Given the description of an element on the screen output the (x, y) to click on. 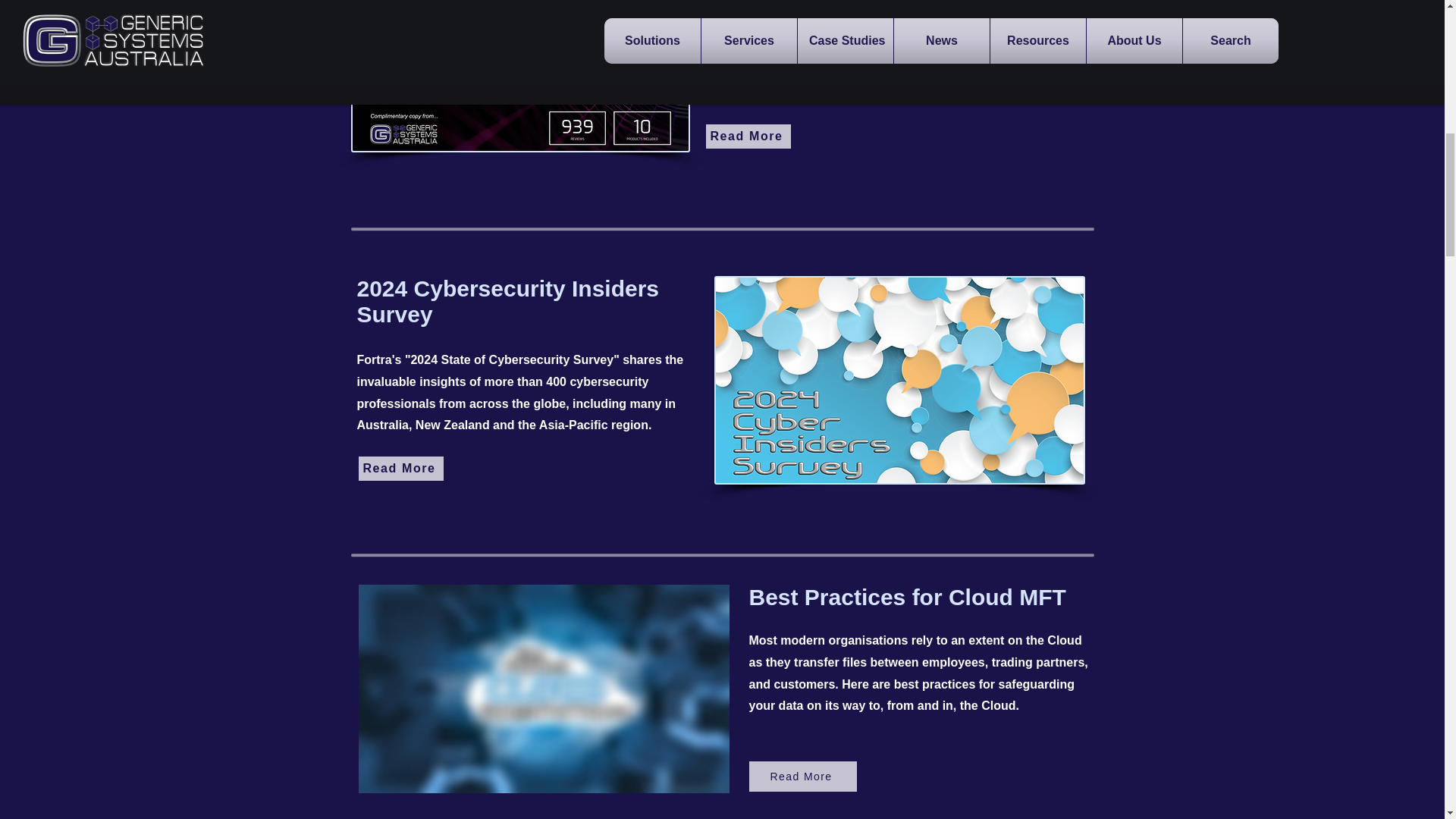
Read More (400, 468)
Read More (747, 136)
Read More (803, 776)
